Given the description of an element on the screen output the (x, y) to click on. 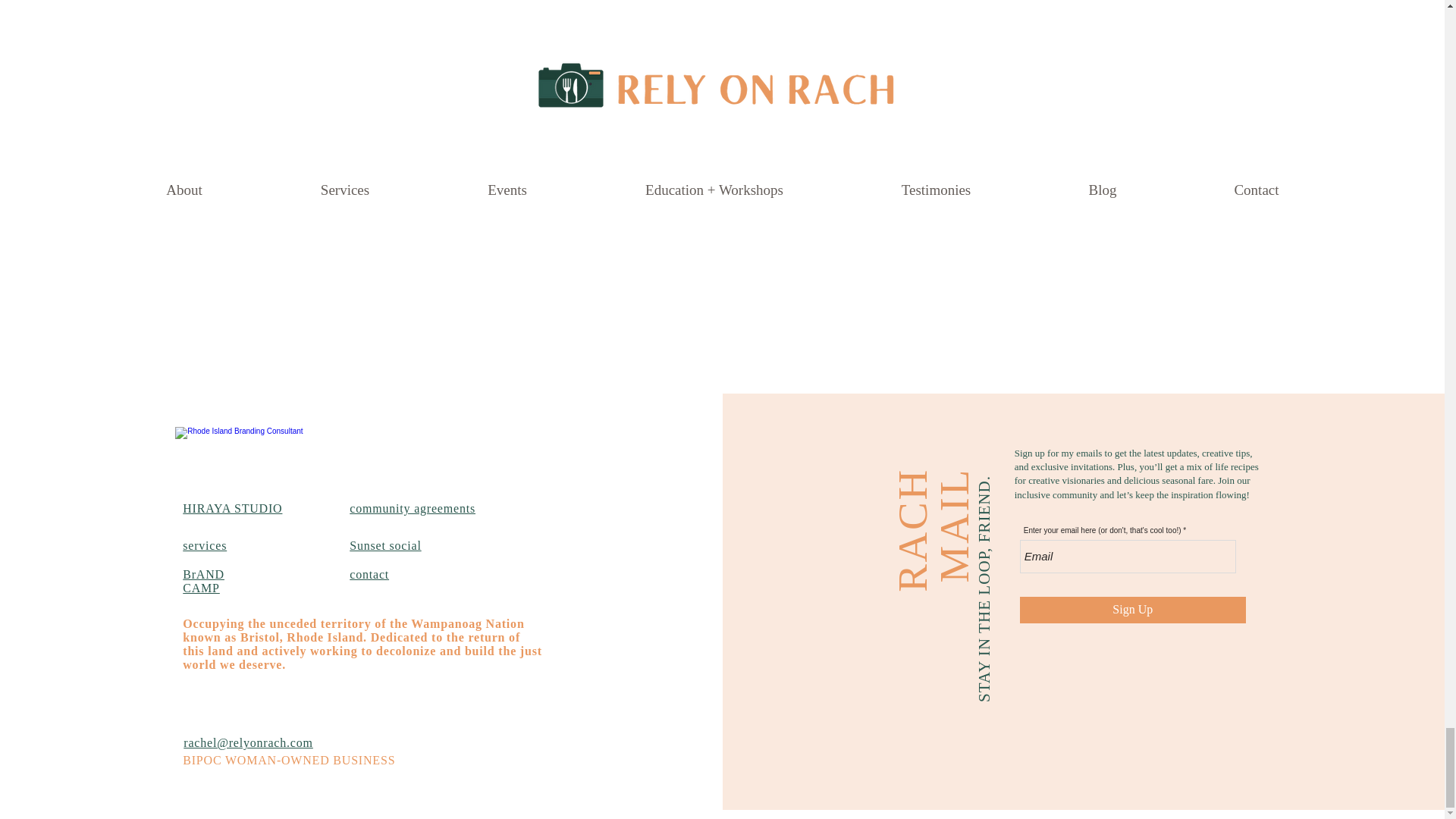
contact (368, 574)
BrAND CAMP (203, 581)
services (205, 545)
HIRAYA STUDIO (232, 508)
Sign Up (1133, 610)
Sunset social (384, 545)
community agreements (412, 508)
